Given the description of an element on the screen output the (x, y) to click on. 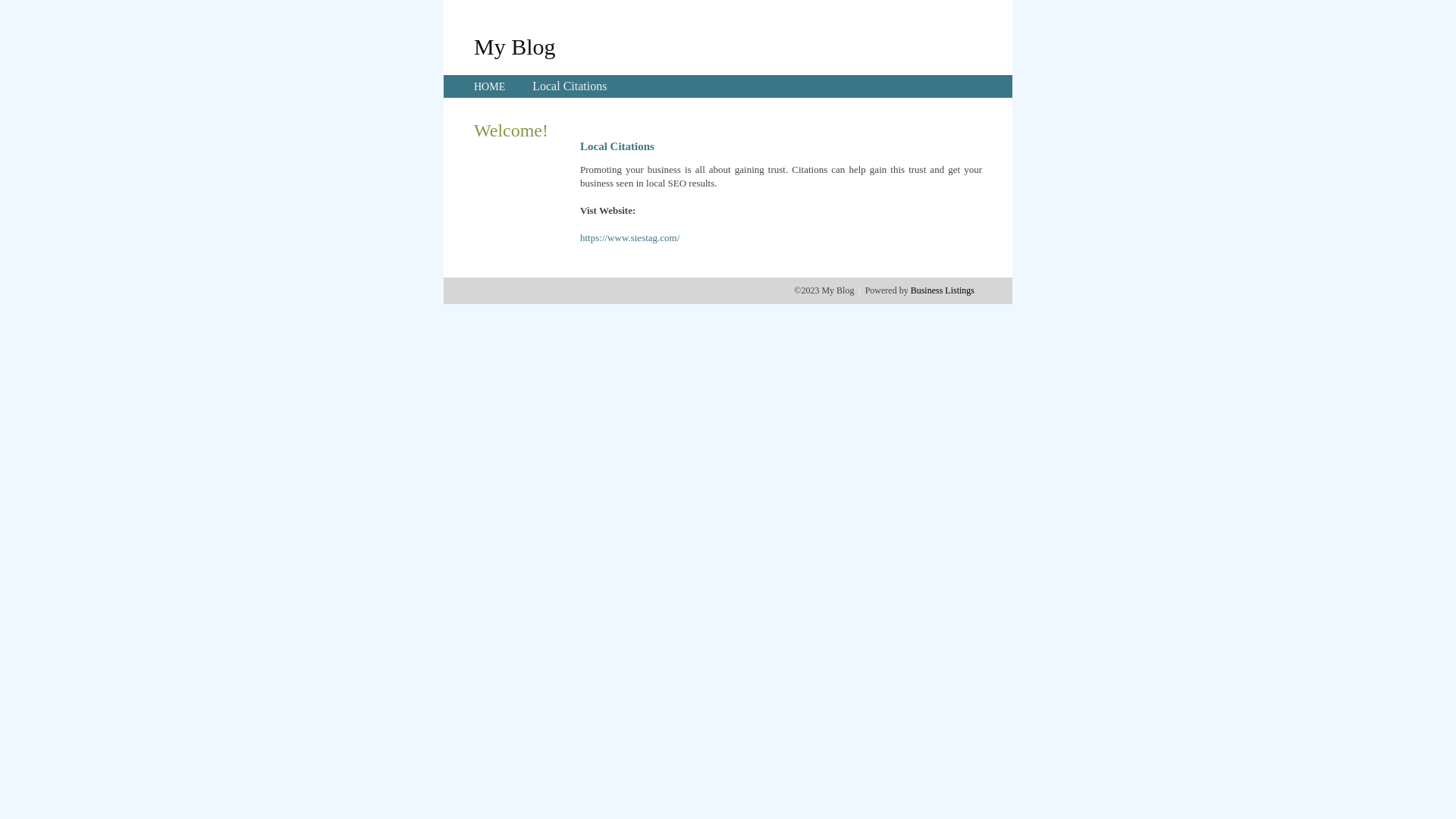
Local Citations Element type: text (569, 85)
HOME Element type: text (489, 86)
My Blog Element type: text (514, 46)
https://www.siestag.com/ Element type: text (629, 237)
Business Listings Element type: text (942, 290)
